Given the description of an element on the screen output the (x, y) to click on. 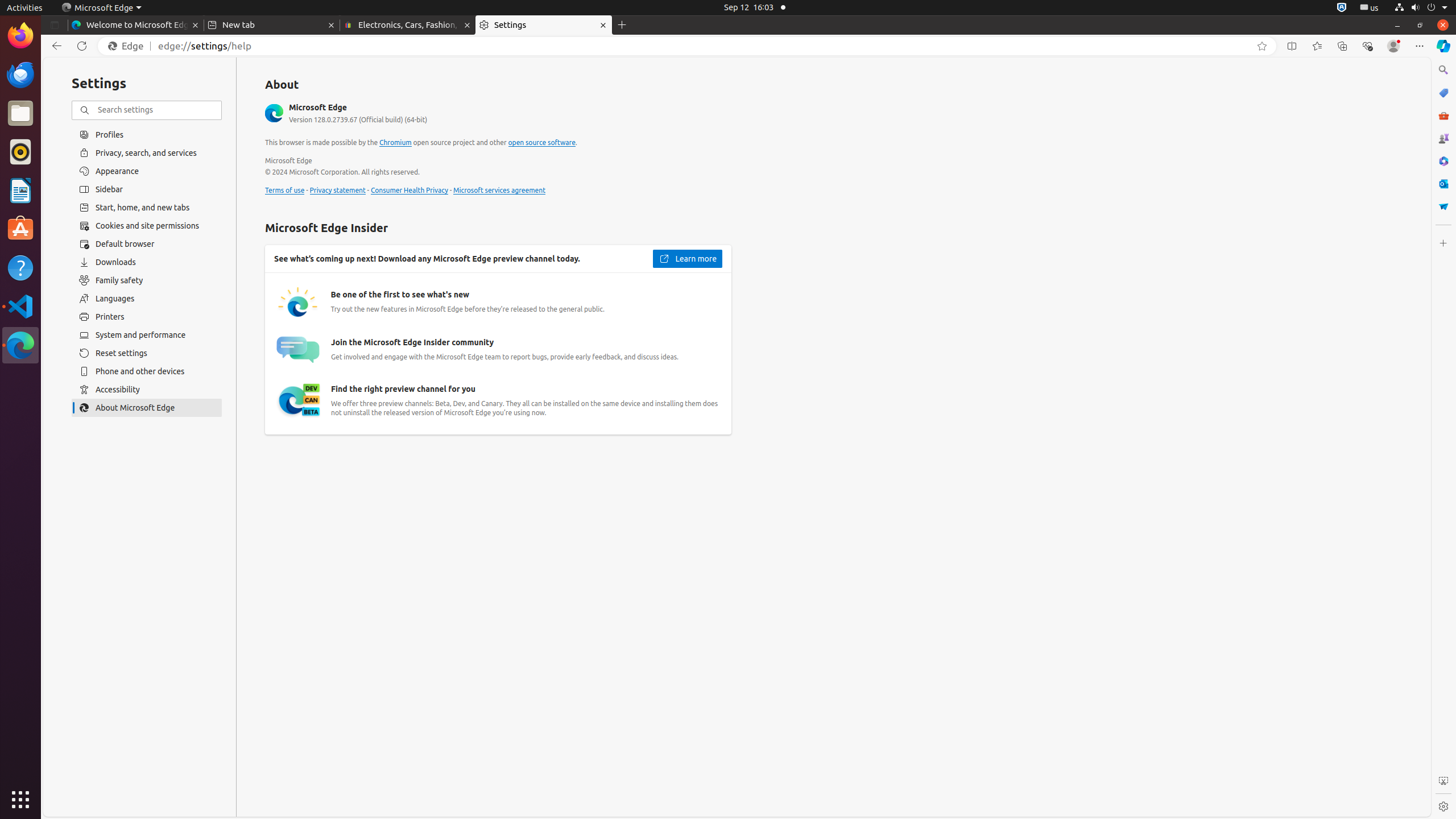
Tab actions menu Element type: push-button (54, 24)
Help Element type: push-button (20, 267)
Consumer Health Privacy Element type: link (409, 190)
Ubuntu Software Element type: push-button (20, 229)
Settings Element type: page-tab (543, 25)
